Given the description of an element on the screen output the (x, y) to click on. 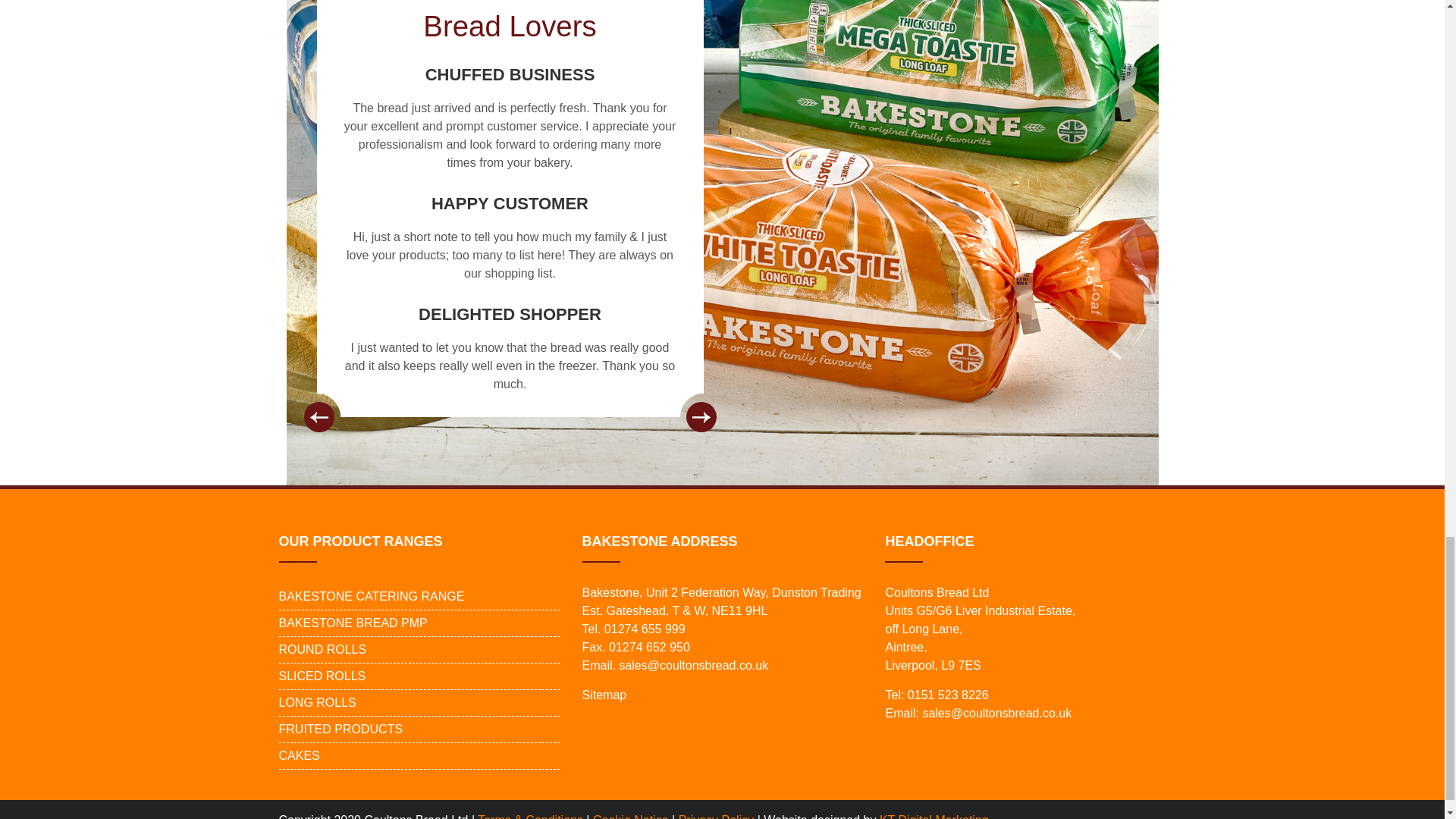
BAKESTONE BREAD PMP (353, 623)
ROUND ROLLS (322, 649)
01274 652 950 (649, 646)
BAKESTONE CATERING RANGE (371, 596)
CAKES (299, 755)
FRUITED PRODUCTS (341, 729)
SLICED ROLLS (322, 676)
LONG ROLLS (317, 702)
01274 655 999 (644, 628)
